Given the description of an element on the screen output the (x, y) to click on. 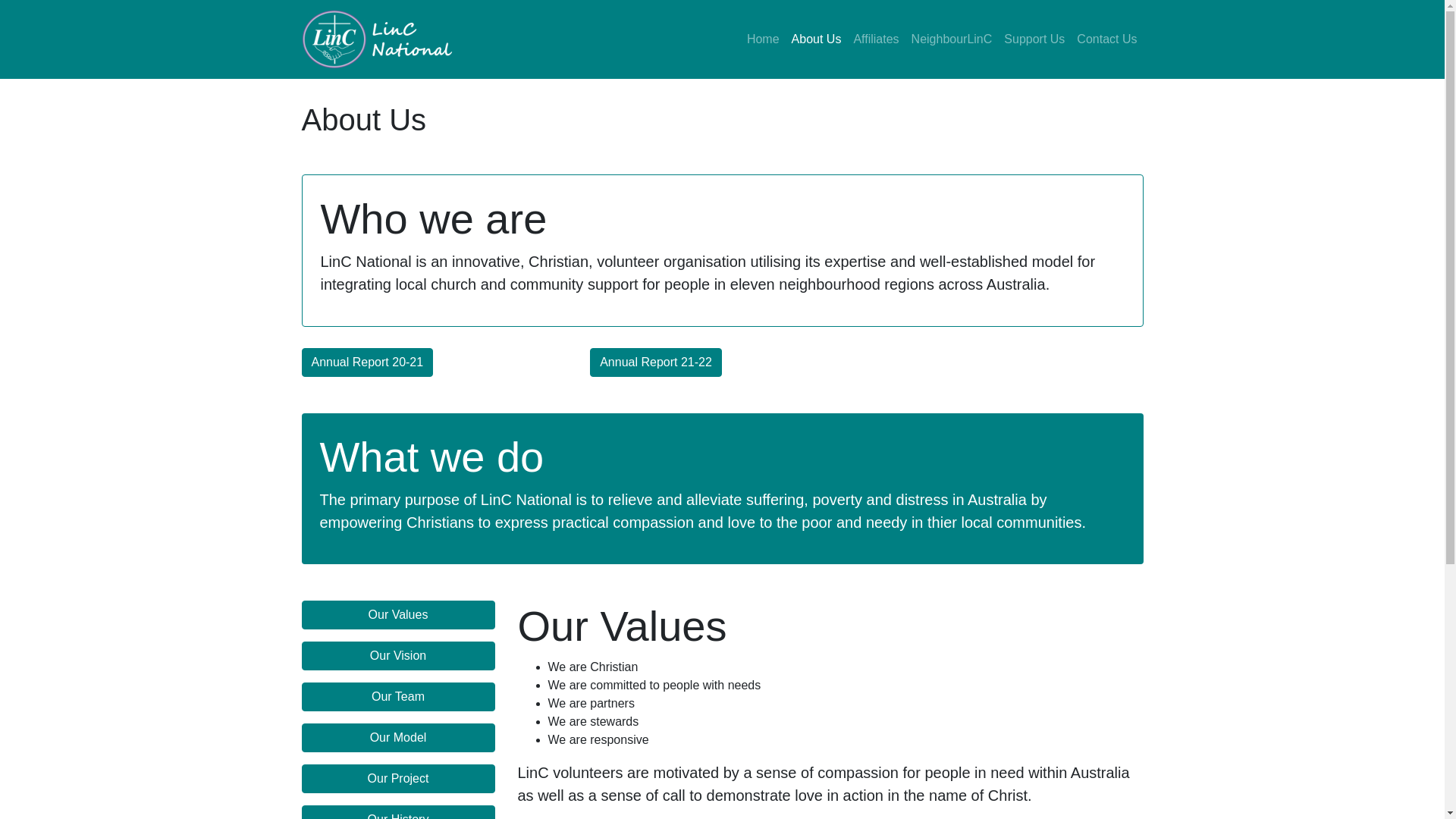
Affiliates Element type: text (875, 39)
Contact Us Element type: text (1106, 39)
Annual Report 20-21 Element type: text (367, 362)
Home Element type: text (762, 39)
NeighbourLinC Element type: text (951, 39)
Our Model Element type: text (398, 737)
Our Project Element type: text (398, 778)
Annual Report 21-22 Element type: text (655, 362)
Our Vision Element type: text (398, 655)
Support Us Element type: text (1033, 39)
About Us Element type: text (816, 39)
Our Values Element type: text (398, 614)
Our Team Element type: text (398, 696)
